Given the description of an element on the screen output the (x, y) to click on. 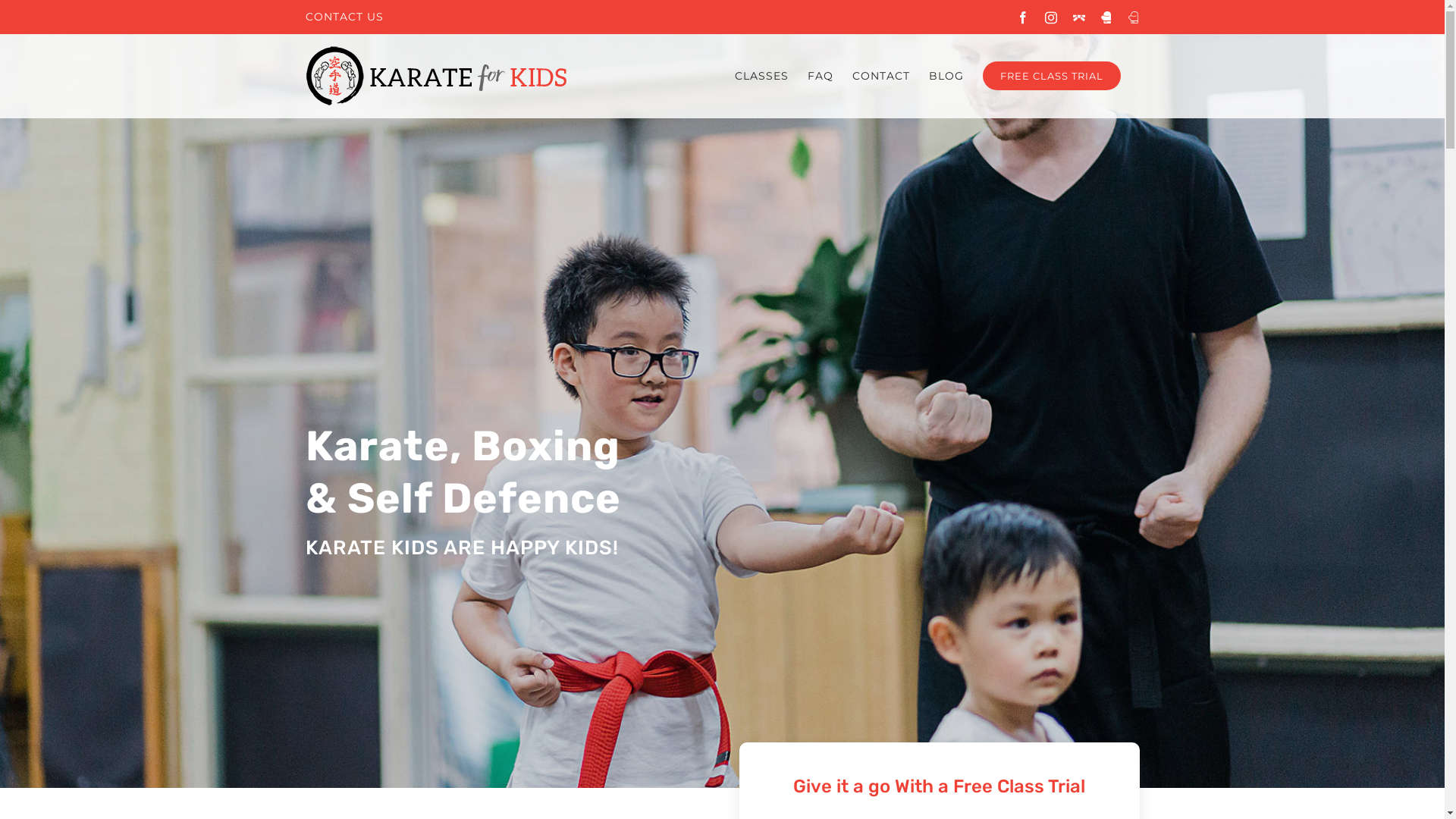
CONTACT Element type: text (881, 75)
CLASSES Element type: text (760, 75)
Get Boxing for Teens Element type: text (1132, 16)
Facebook Element type: text (1022, 16)
CONTACT US Element type: text (343, 16)
Instagram Element type: text (1050, 16)
FREE CLASS TRIAL Element type: text (1051, 75)
BLOG Element type: text (945, 75)
FAQ Element type: text (819, 75)
Shudokan Karate Element type: text (1078, 16)
Boxing for Kids Element type: text (1105, 16)
